Given the description of an element on the screen output the (x, y) to click on. 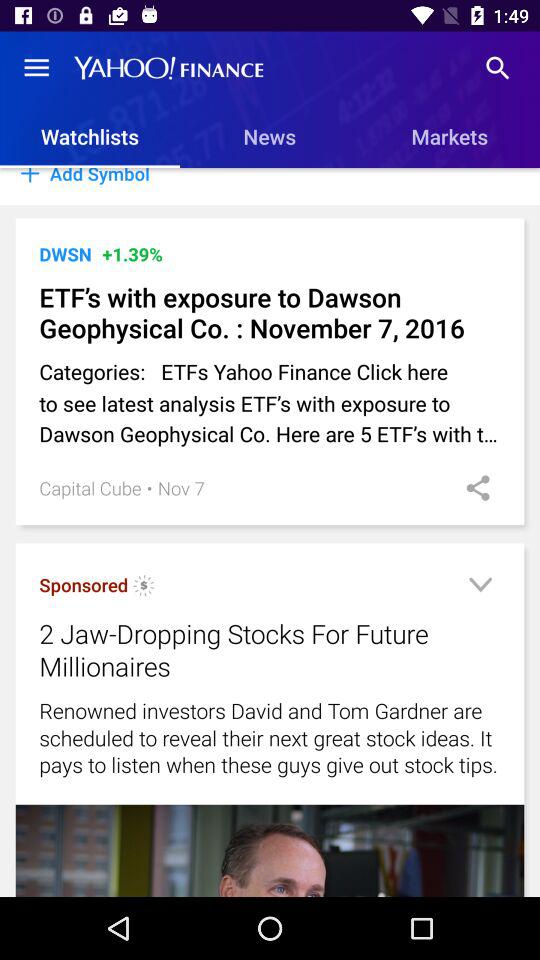
turn on the icon below the watchlists (270, 186)
